Given the description of an element on the screen output the (x, y) to click on. 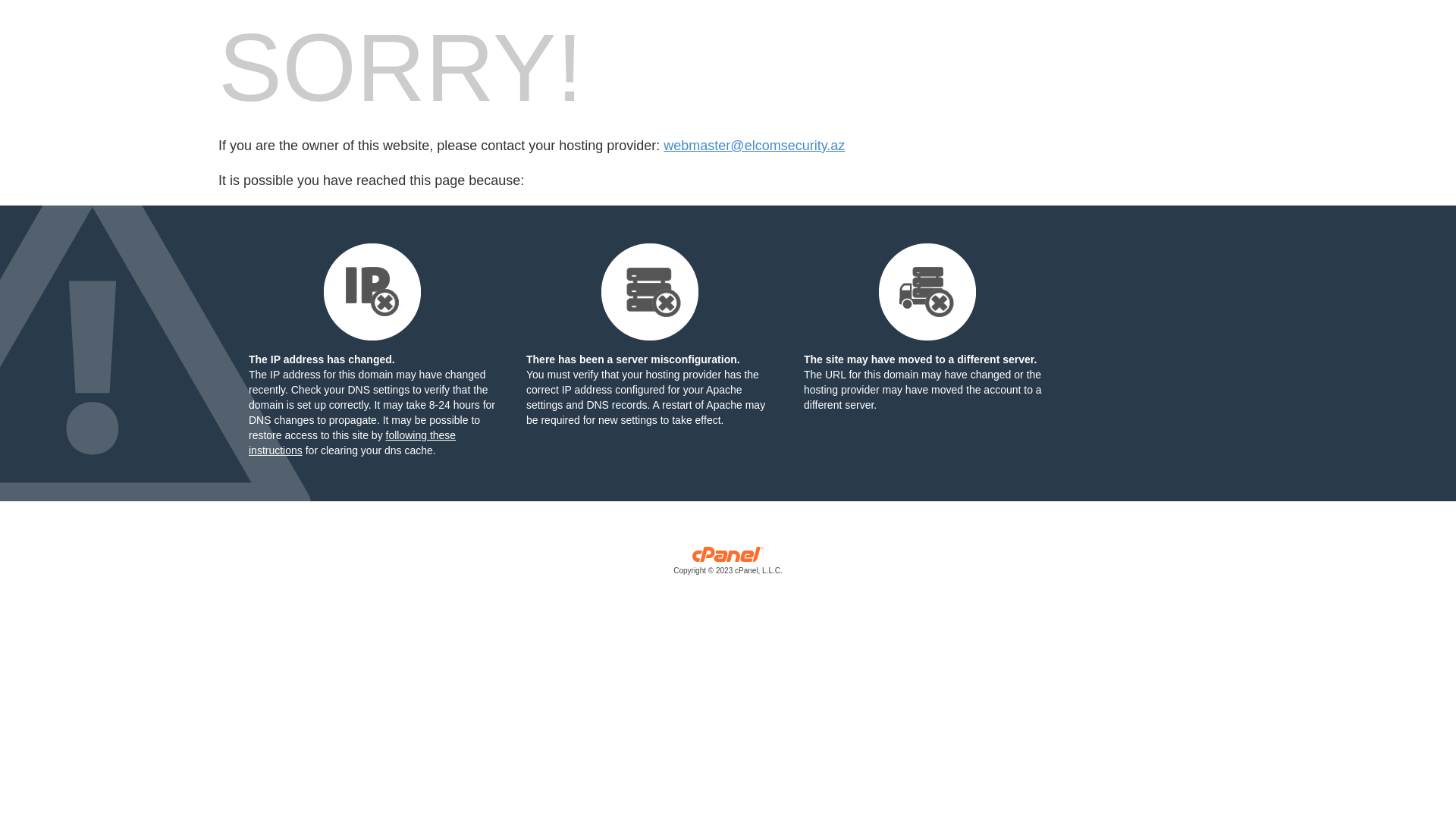
following these instructions Element type: text (351, 442)
webmaster@elcomsecurity.az Element type: text (753, 145)
